Given the description of an element on the screen output the (x, y) to click on. 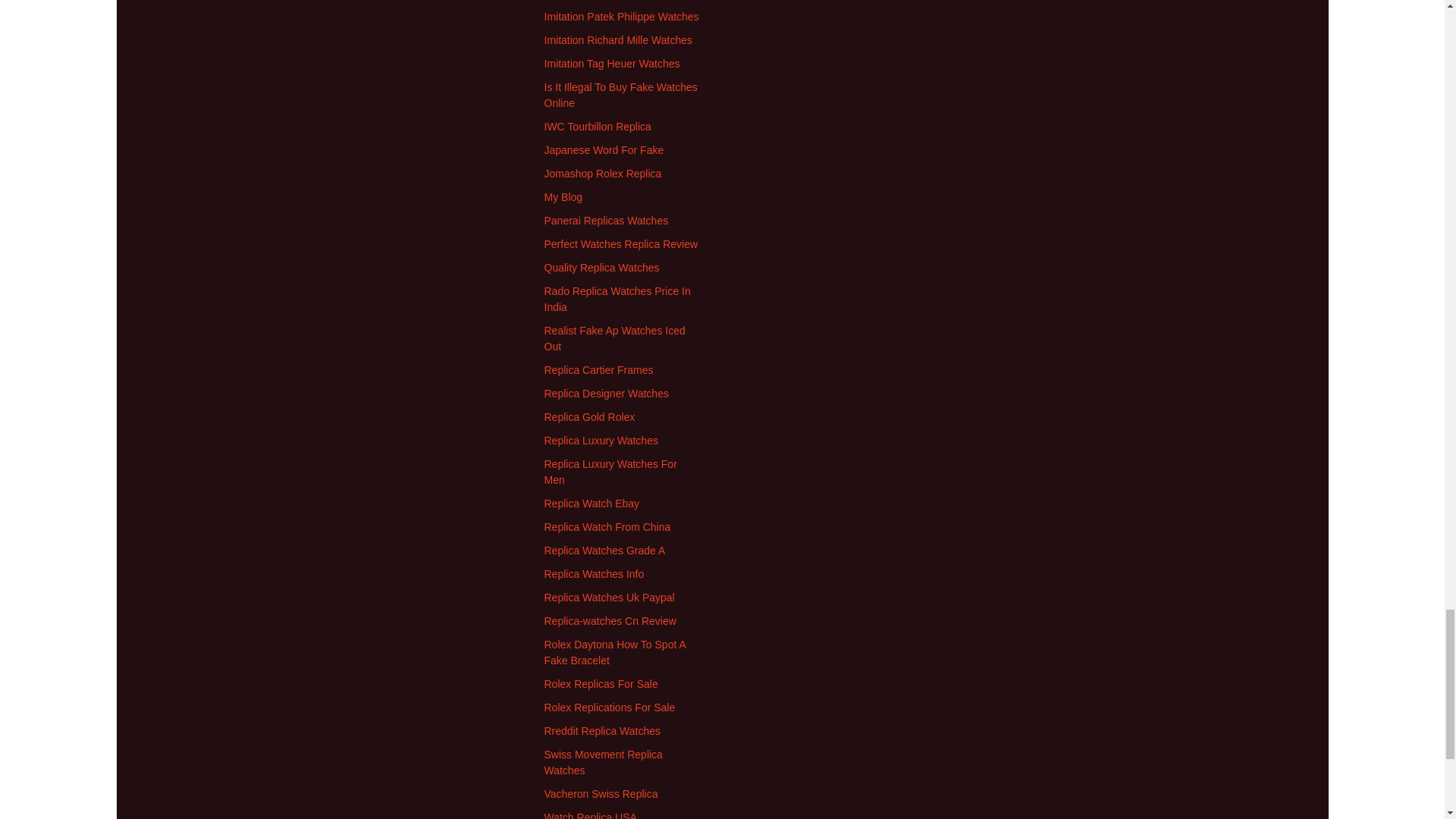
Is It Illegal To Buy Fake Watches Online (620, 94)
Imitation Richard Mille Watches (618, 39)
Imitation Tag Heuer Watches (611, 63)
IWC Tourbillon Replica (597, 126)
Imitation Patek Philippe Watches (621, 16)
